Given the description of an element on the screen output the (x, y) to click on. 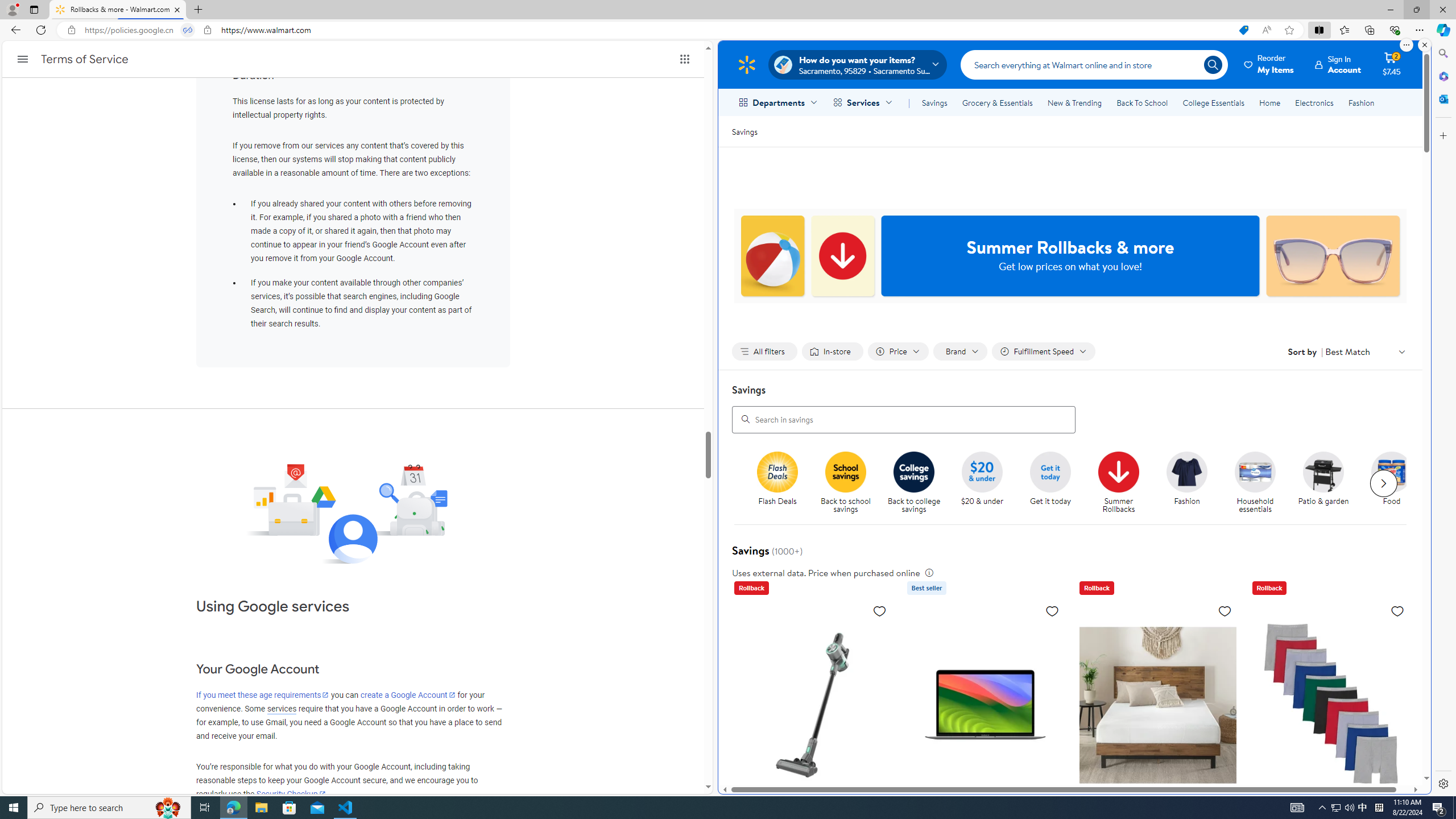
Filter by In-store (831, 351)
Get it today (1050, 471)
legal information (928, 572)
Filter by Price not applied, activate to change (897, 351)
Back To School (1141, 102)
Sort by Best Match (1366, 351)
Household essentials Household essentials (1254, 483)
Flash Deals (782, 483)
Fashion (1361, 102)
Flash deals (777, 471)
Grocery & Essentials (997, 102)
Grocery & Essentials (997, 102)
